Given the description of an element on the screen output the (x, y) to click on. 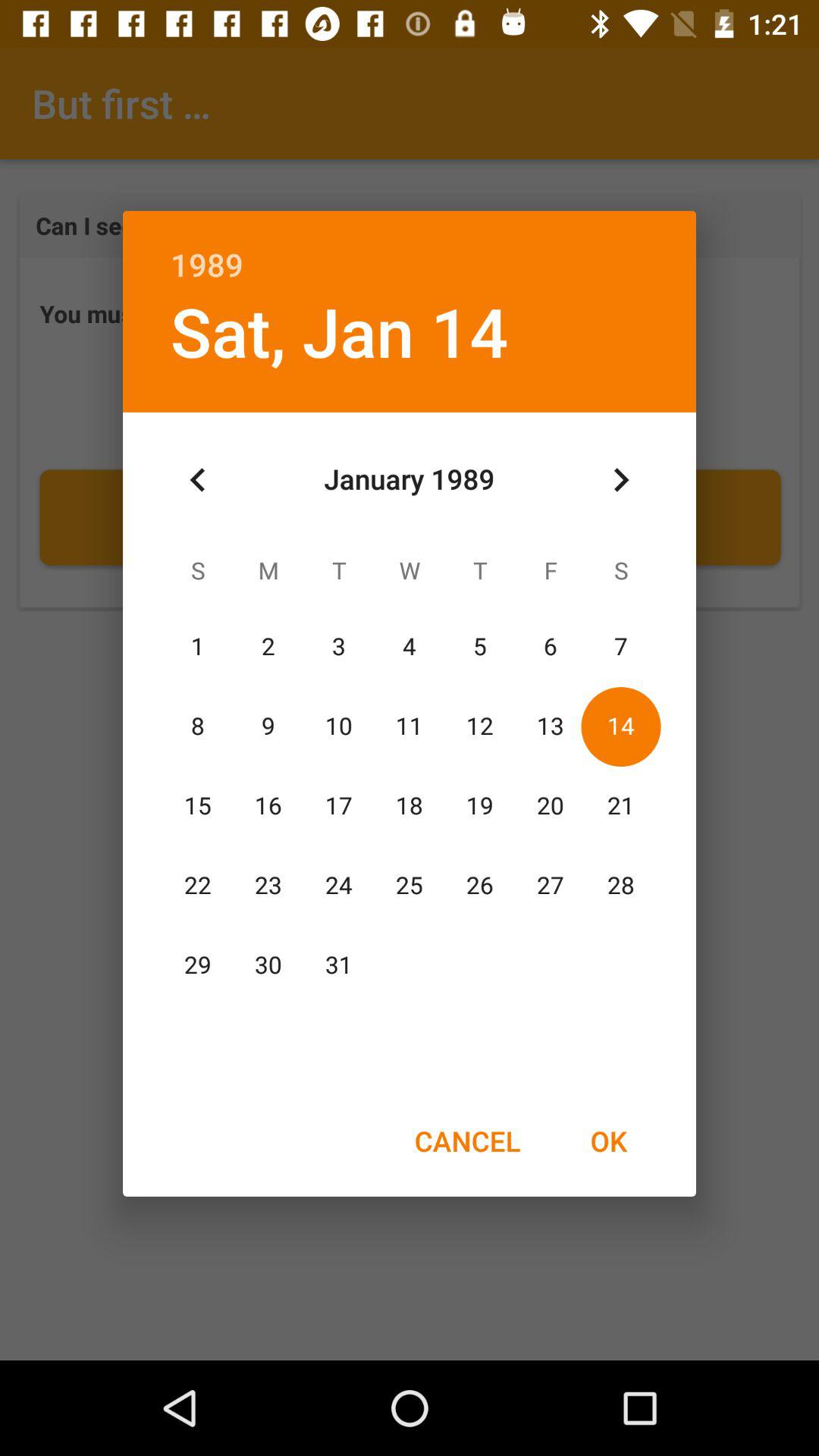
launch item below 1989 item (620, 479)
